Given the description of an element on the screen output the (x, y) to click on. 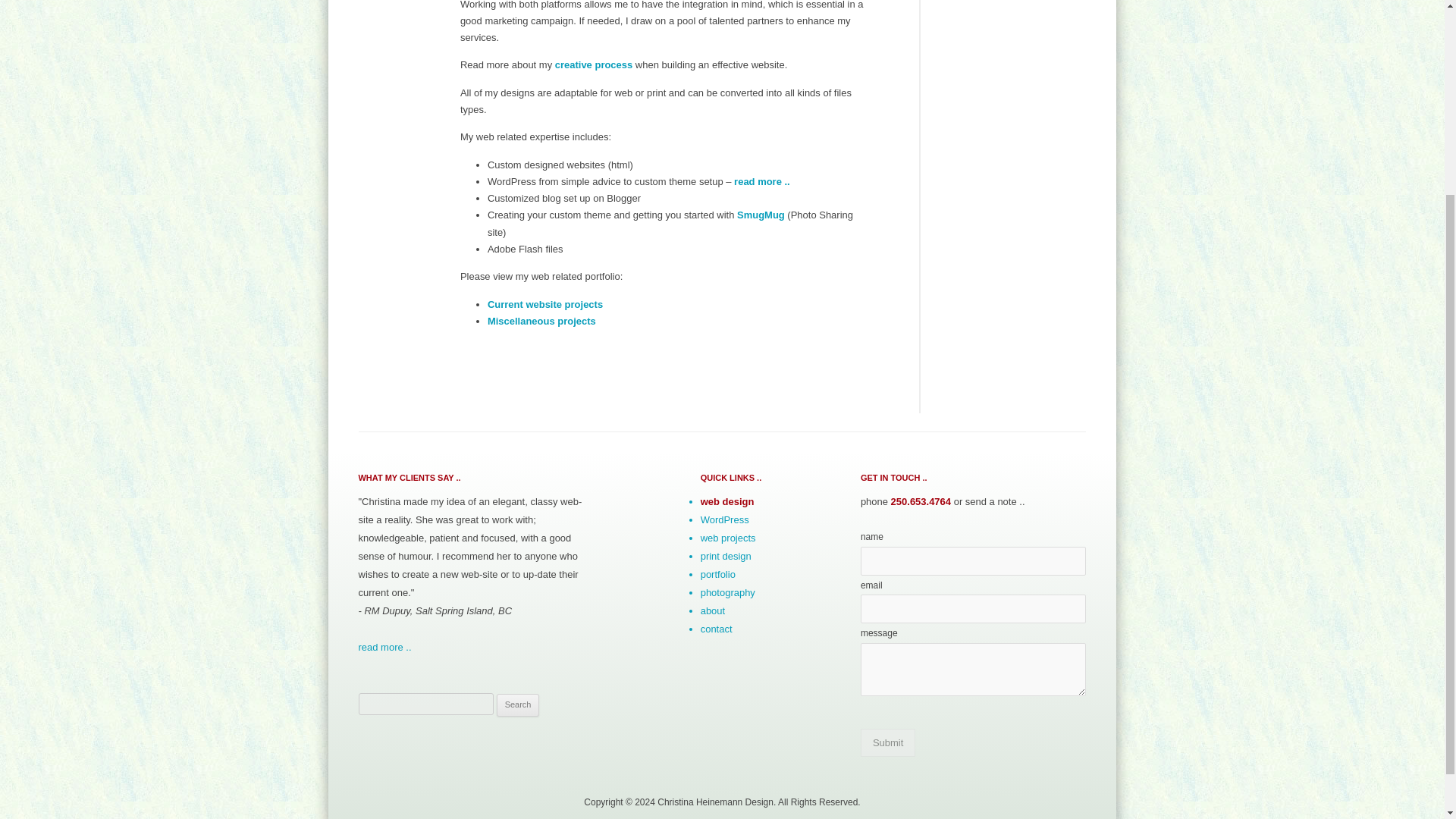
portfolio (717, 573)
web projects (727, 537)
SmugMug (760, 214)
read more .. (384, 646)
contact (716, 628)
web design (727, 501)
read more .. (761, 181)
photography (727, 592)
Current website projects (544, 303)
print design (725, 555)
